Given the description of an element on the screen output the (x, y) to click on. 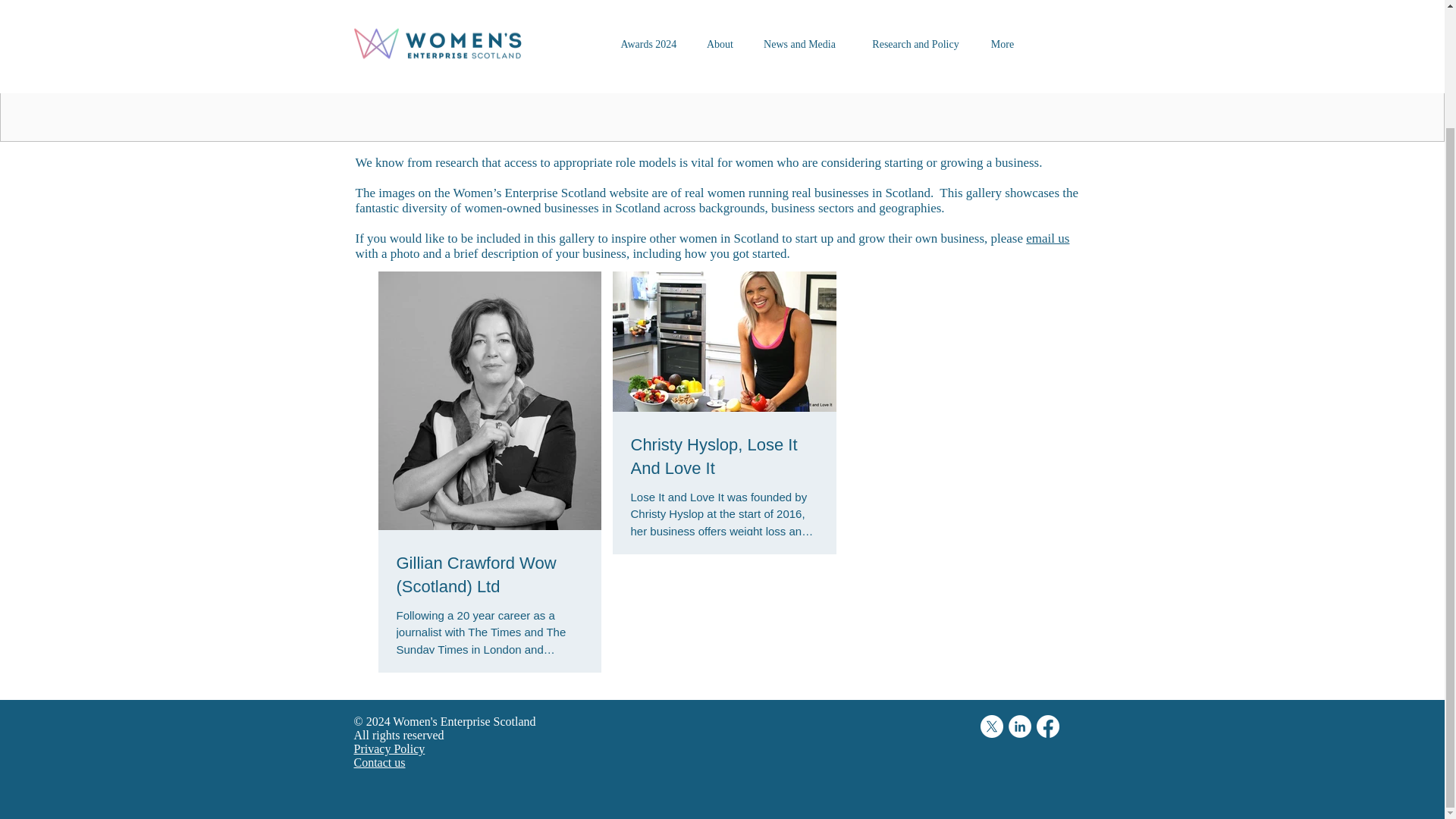
Privacy Policy (389, 748)
Christy Hyslop, Lose It And Love It (724, 457)
email us (1047, 237)
Contact us (378, 762)
